Given the description of an element on the screen output the (x, y) to click on. 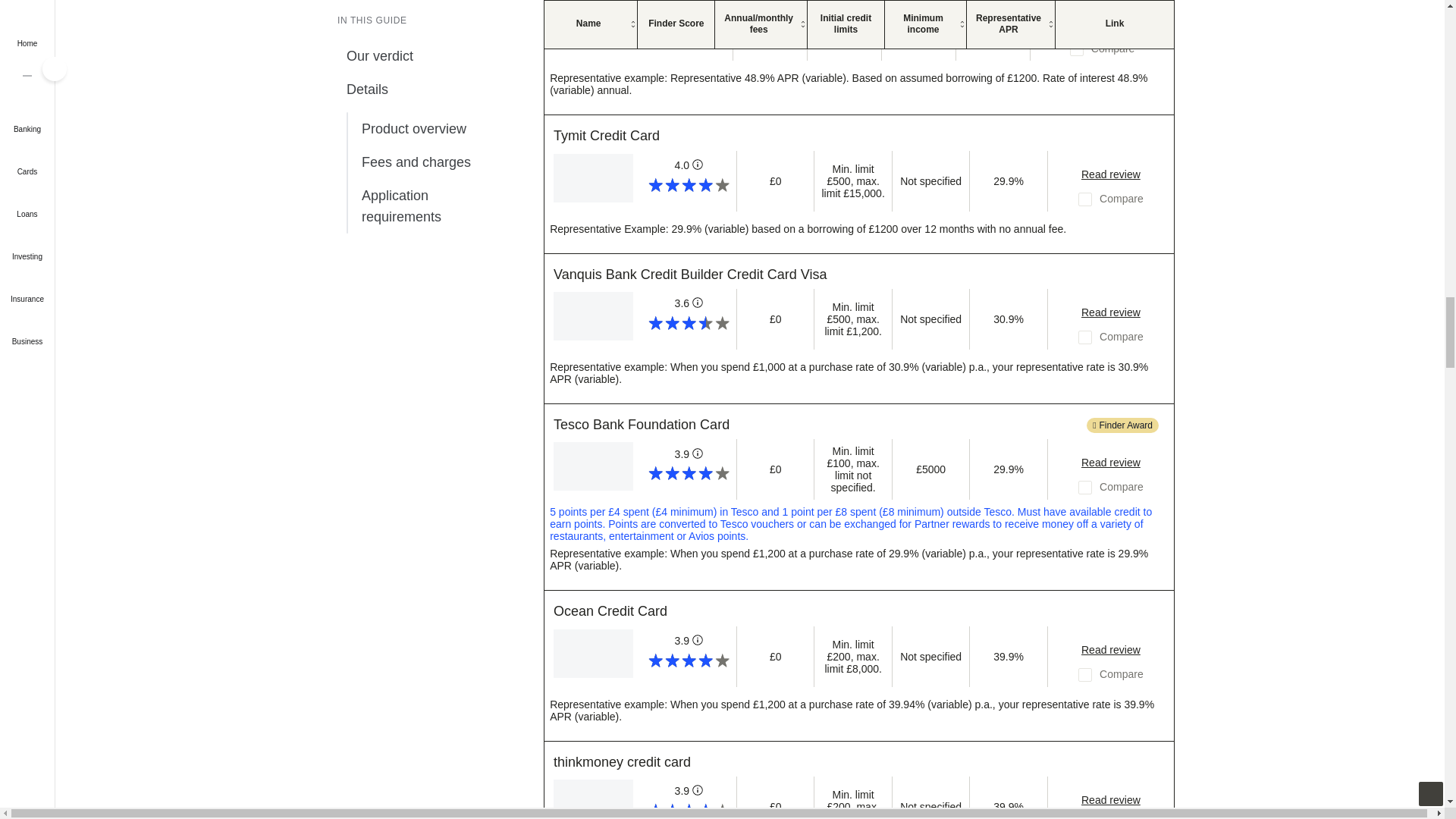
Read more about this card (1110, 174)
Read more about this card (1102, 24)
Read more about this card (1110, 312)
